Given the description of an element on the screen output the (x, y) to click on. 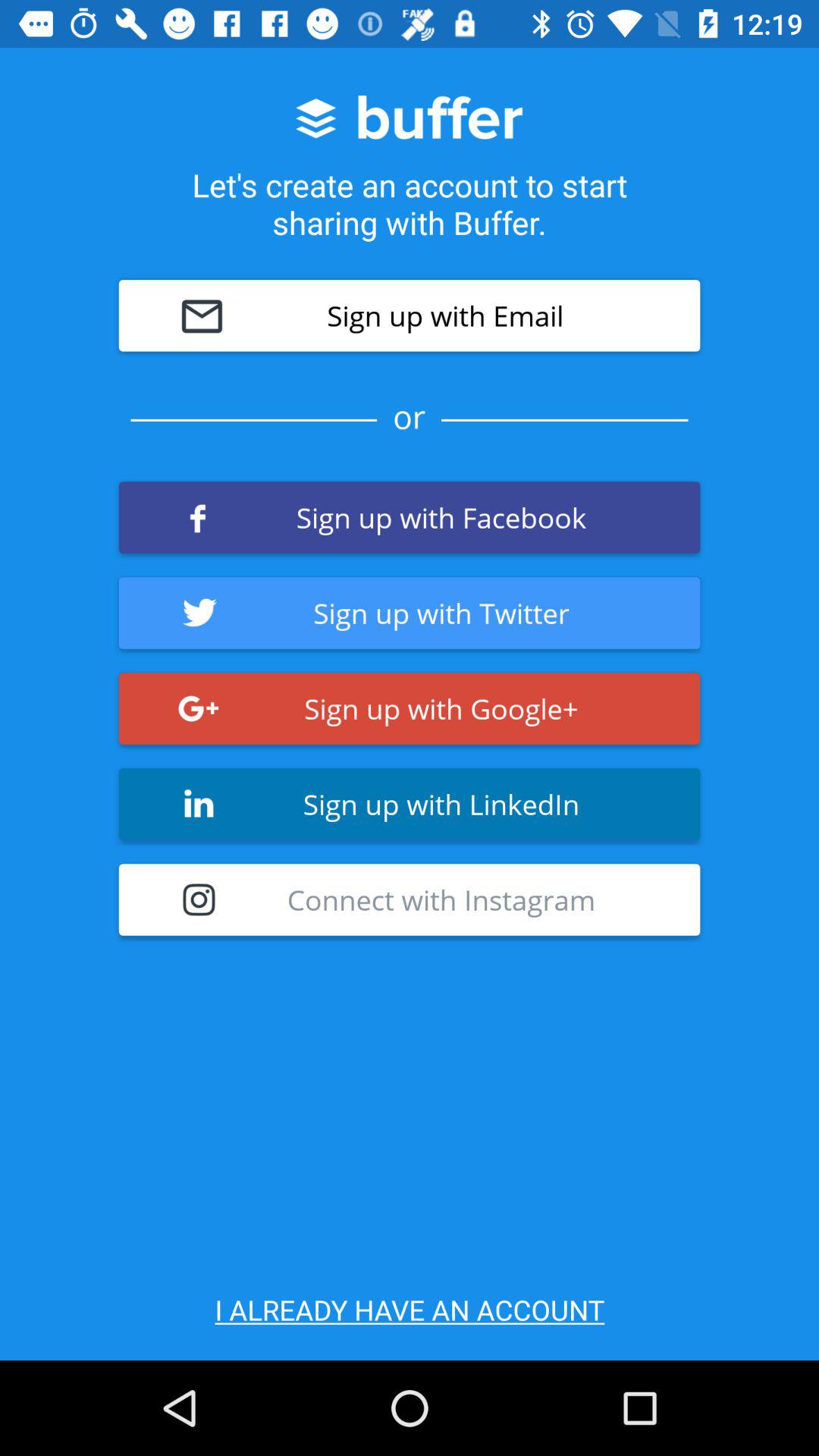
select icon below connect with instagram item (409, 1309)
